Given the description of an element on the screen output the (x, y) to click on. 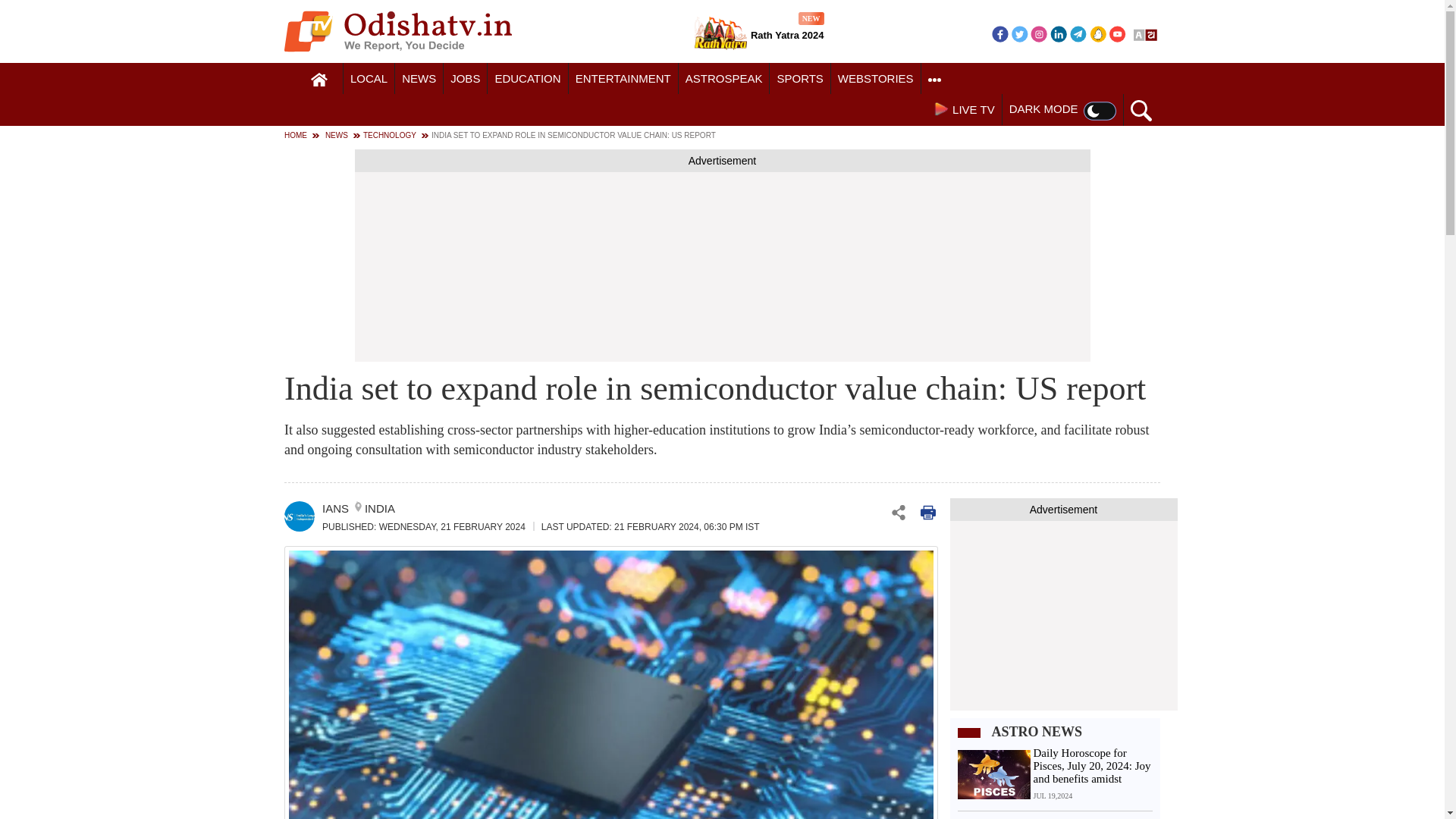
Koo (1097, 33)
LinkedIn (1058, 33)
LOCAL (368, 78)
JOBS (465, 78)
Facebook (1000, 33)
EDUCATION (527, 78)
Odisha (759, 35)
Twitter (368, 78)
Youtube (1019, 33)
OdishaTV (1117, 33)
Instagram (397, 31)
Home Icon (1038, 33)
Rath Yatra 2024 (319, 79)
Telegram (720, 35)
